Given the description of an element on the screen output the (x, y) to click on. 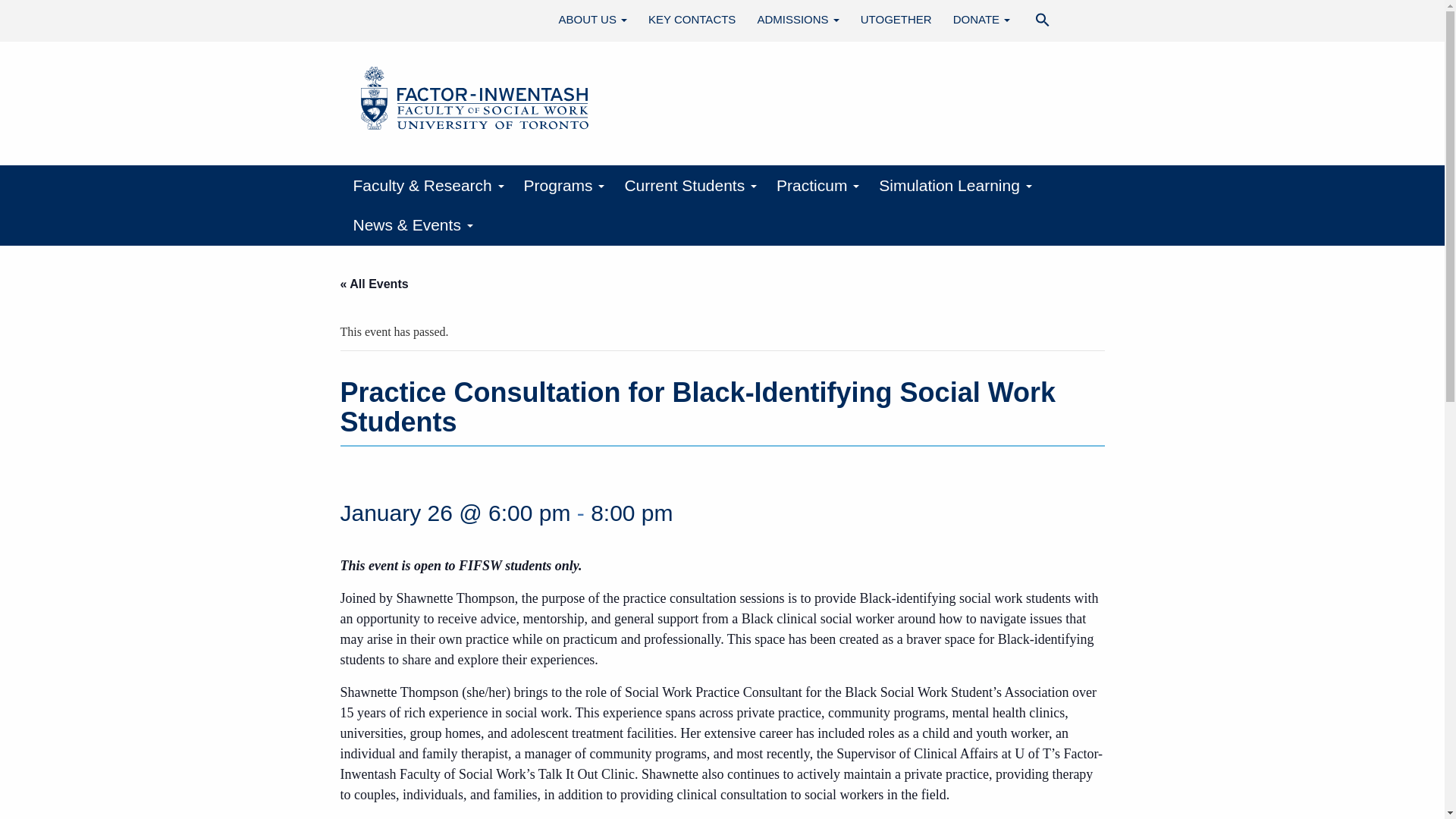
ADMISSIONS (797, 20)
Key Contacts (692, 20)
About Us (592, 20)
UTOGETHER (896, 20)
KEY CONTACTS (692, 20)
ABOUT US (592, 20)
DONATE (981, 20)
Admissions (797, 20)
Factor-Inwentash Faculty of Social Work (474, 100)
